Given the description of an element on the screen output the (x, y) to click on. 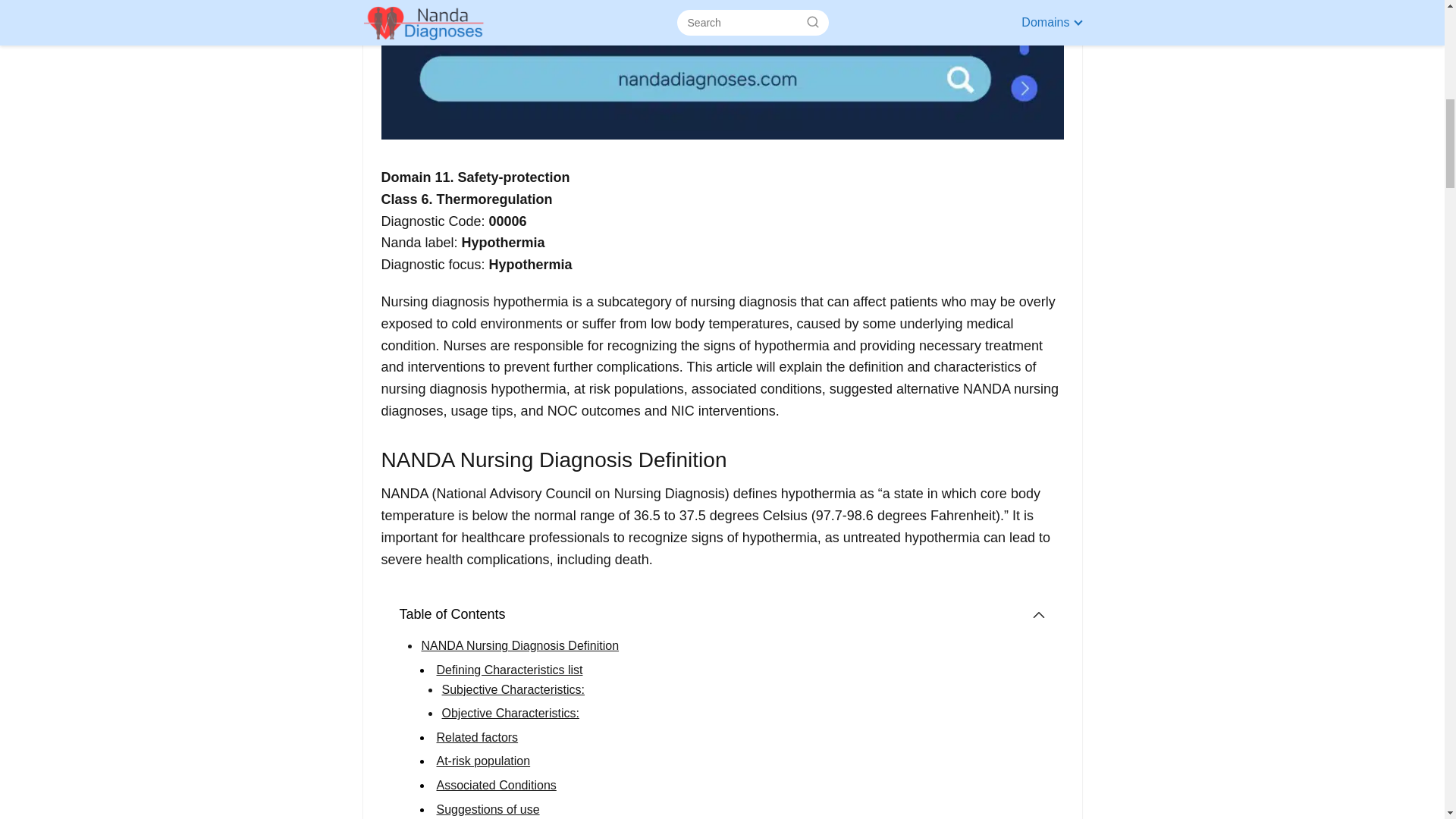
Subjective Characteristics: (513, 689)
At-risk population (483, 760)
Defining Characteristics list (509, 669)
Suggestions of use (488, 809)
NANDA Nursing Diagnosis Definition (521, 645)
Related factors (477, 737)
Associated Conditions (496, 784)
Objective Characteristics: (509, 712)
